Given the description of an element on the screen output the (x, y) to click on. 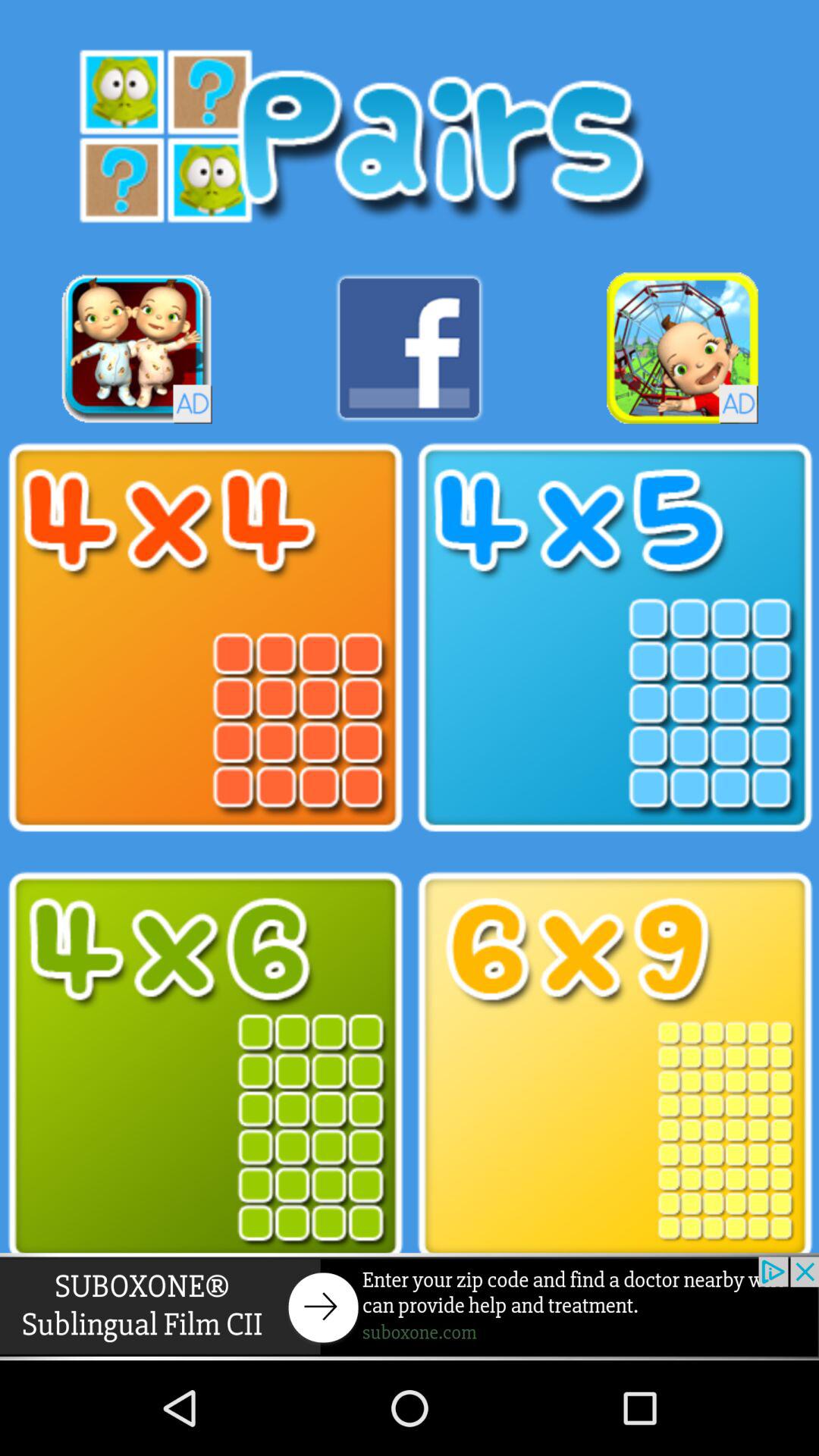
click for advertisement link (136, 347)
